Given the description of an element on the screen output the (x, y) to click on. 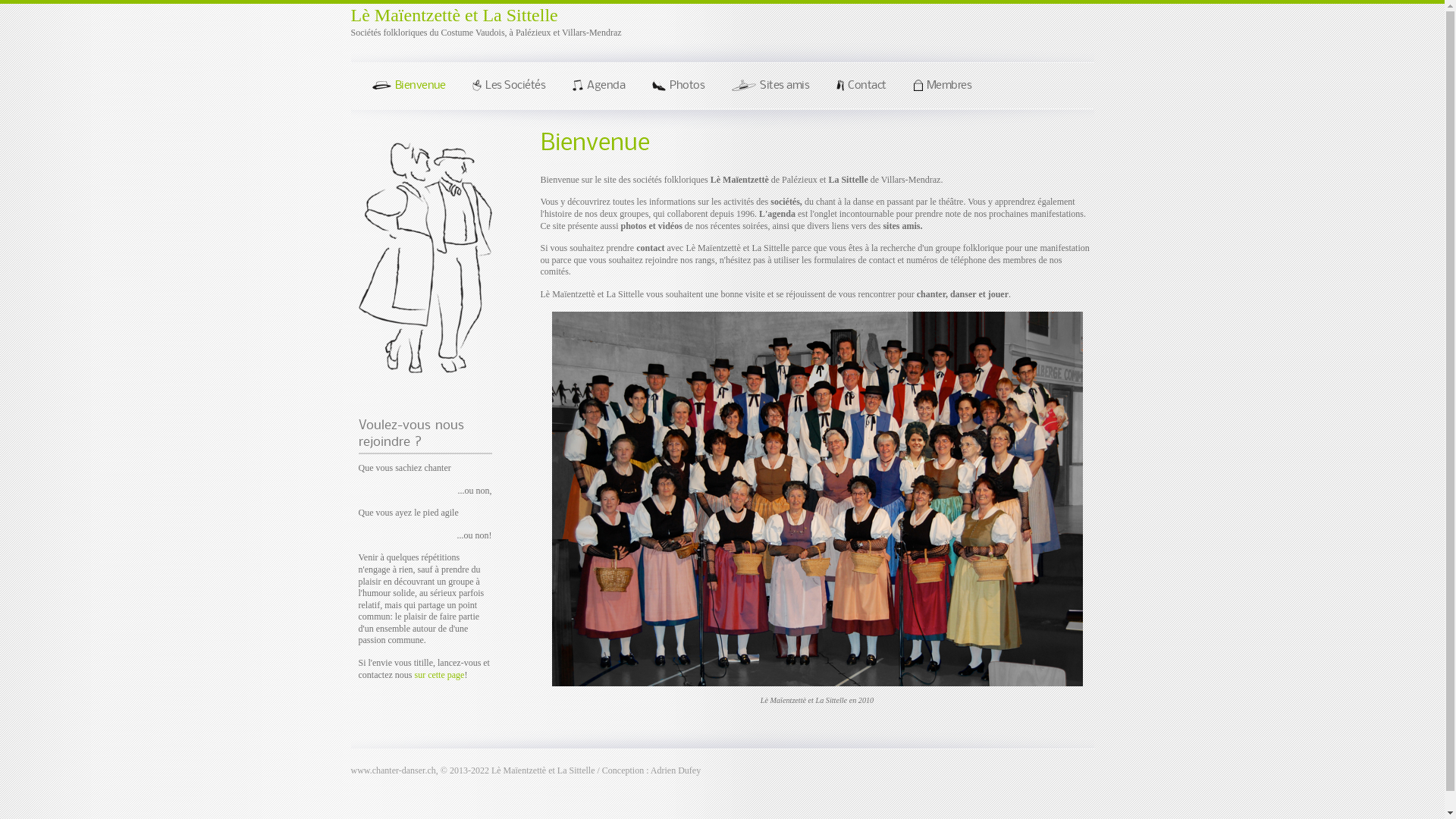
sur cette page Element type: text (439, 674)
Deux danseurs en costume vaudois Element type: hover (424, 257)
Contact Element type: text (859, 90)
Membres Element type: text (940, 90)
Bienvenue Element type: text (406, 90)
Sites amis Element type: text (768, 90)
Agenda Element type: text (596, 90)
Photos Element type: text (676, 90)
